Given the description of an element on the screen output the (x, y) to click on. 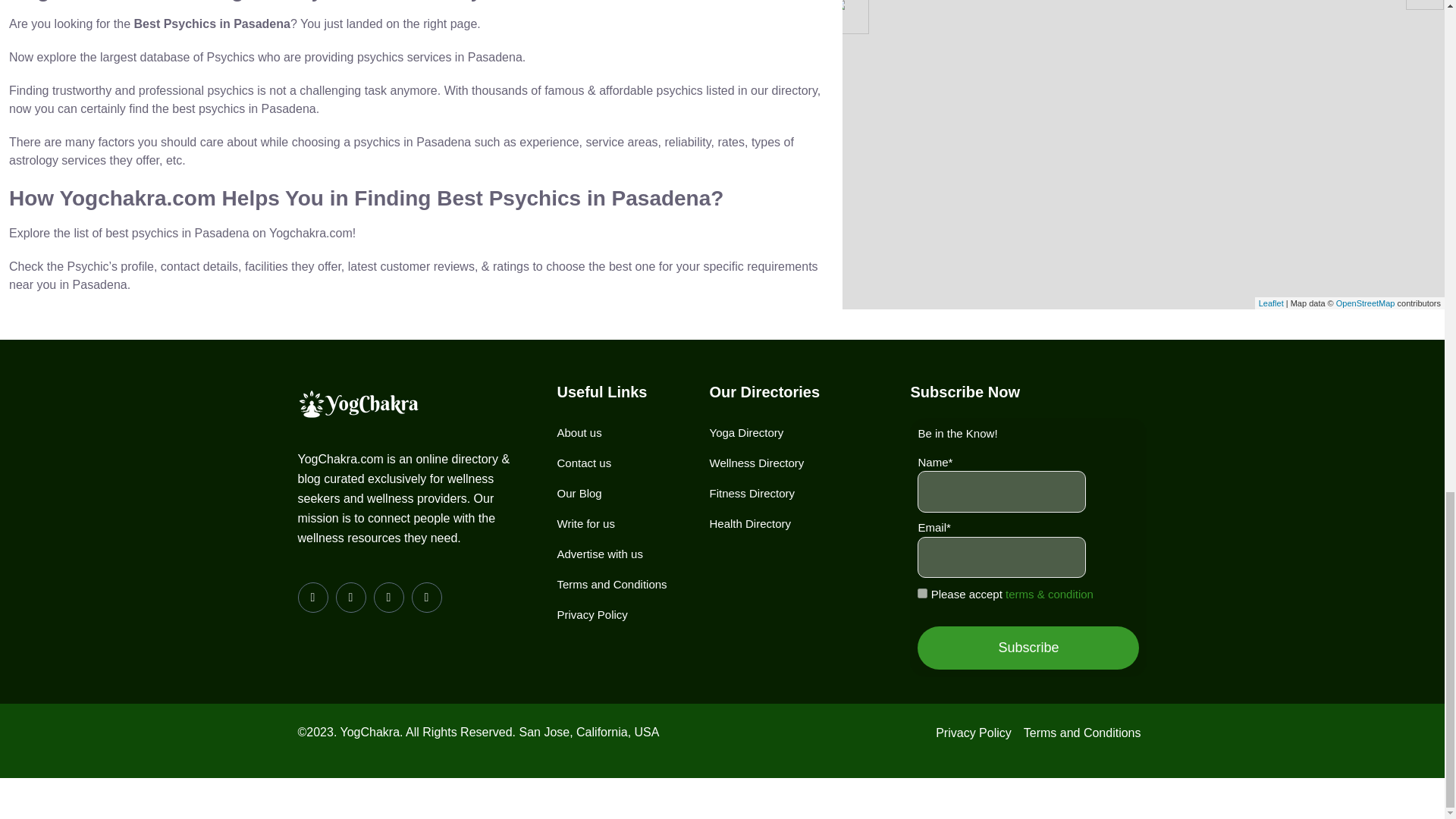
Subscribe (1027, 647)
true (922, 593)
